Given the description of an element on the screen output the (x, y) to click on. 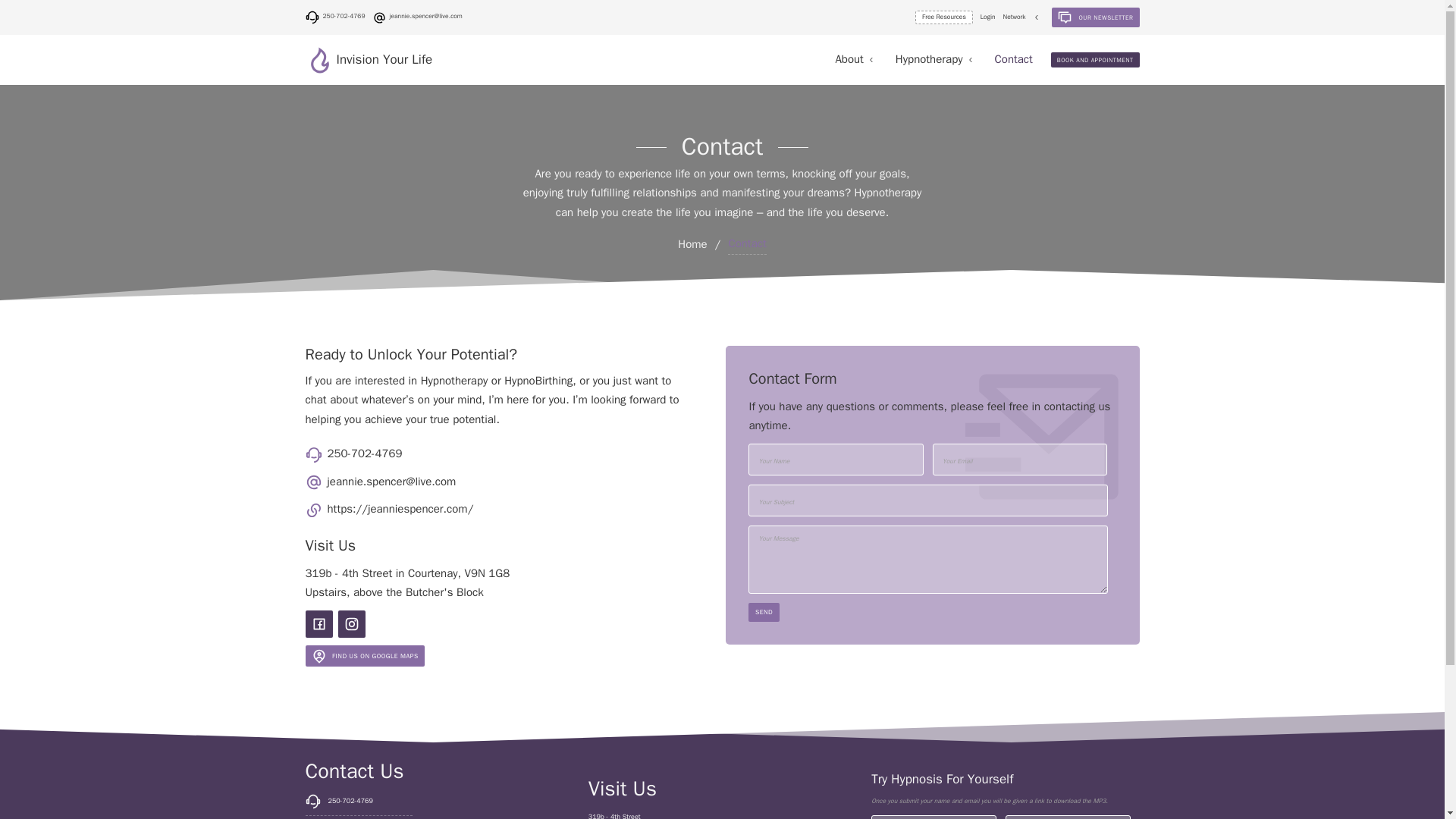
Login (987, 17)
250-702-4769 (334, 17)
Phone: 250-702-4769 (334, 17)
250-702-4769 (388, 454)
Invision Your Life (513, 59)
Contact (943, 17)
Contact (928, 59)
Invision Your Life (513, 59)
Contact (848, 59)
Home (692, 244)
Contact (987, 17)
SEND (763, 612)
FIND US ON GOOGLE MAPS (364, 656)
Hypnotherapy (928, 59)
OUR NEWSLETTER (1095, 17)
